Given the description of an element on the screen output the (x, y) to click on. 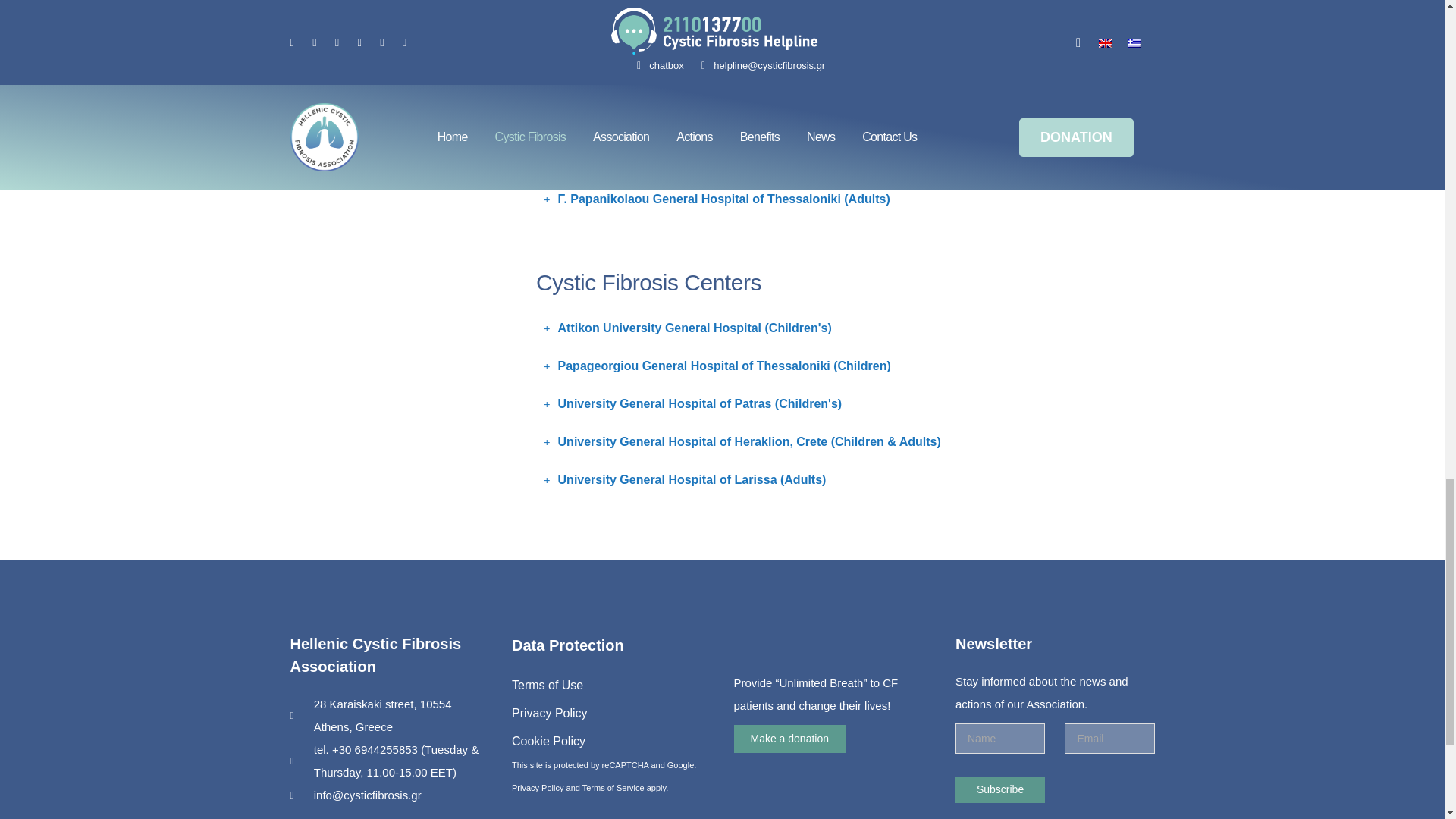
Subscribe (1000, 789)
